Given the description of an element on the screen output the (x, y) to click on. 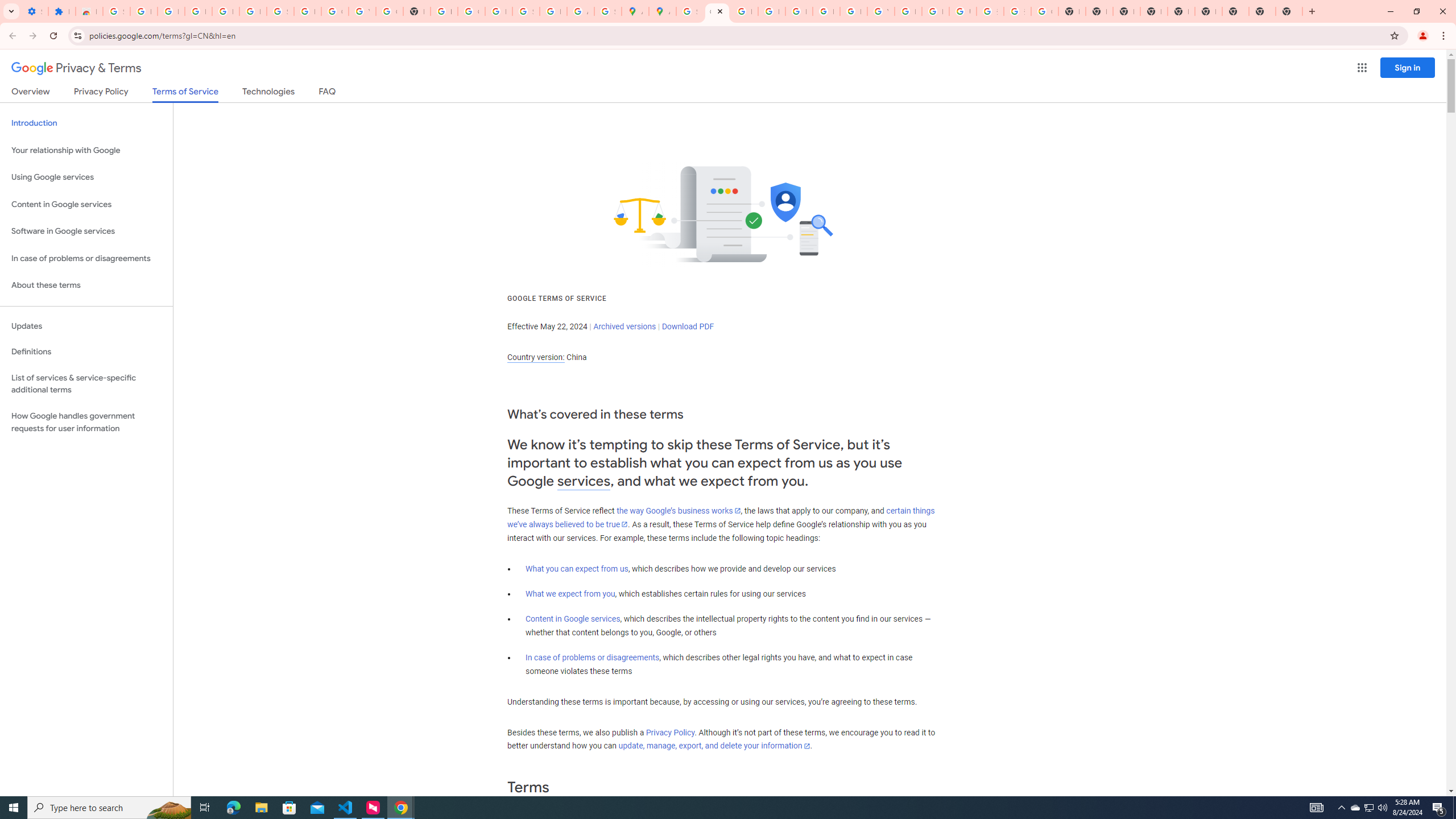
Delete photos & videos - Computer - Google Photos Help (197, 11)
How Google handles government requests for user information (86, 422)
Google Images (1044, 11)
Privacy Help Center - Policies Help (771, 11)
